Given the description of an element on the screen output the (x, y) to click on. 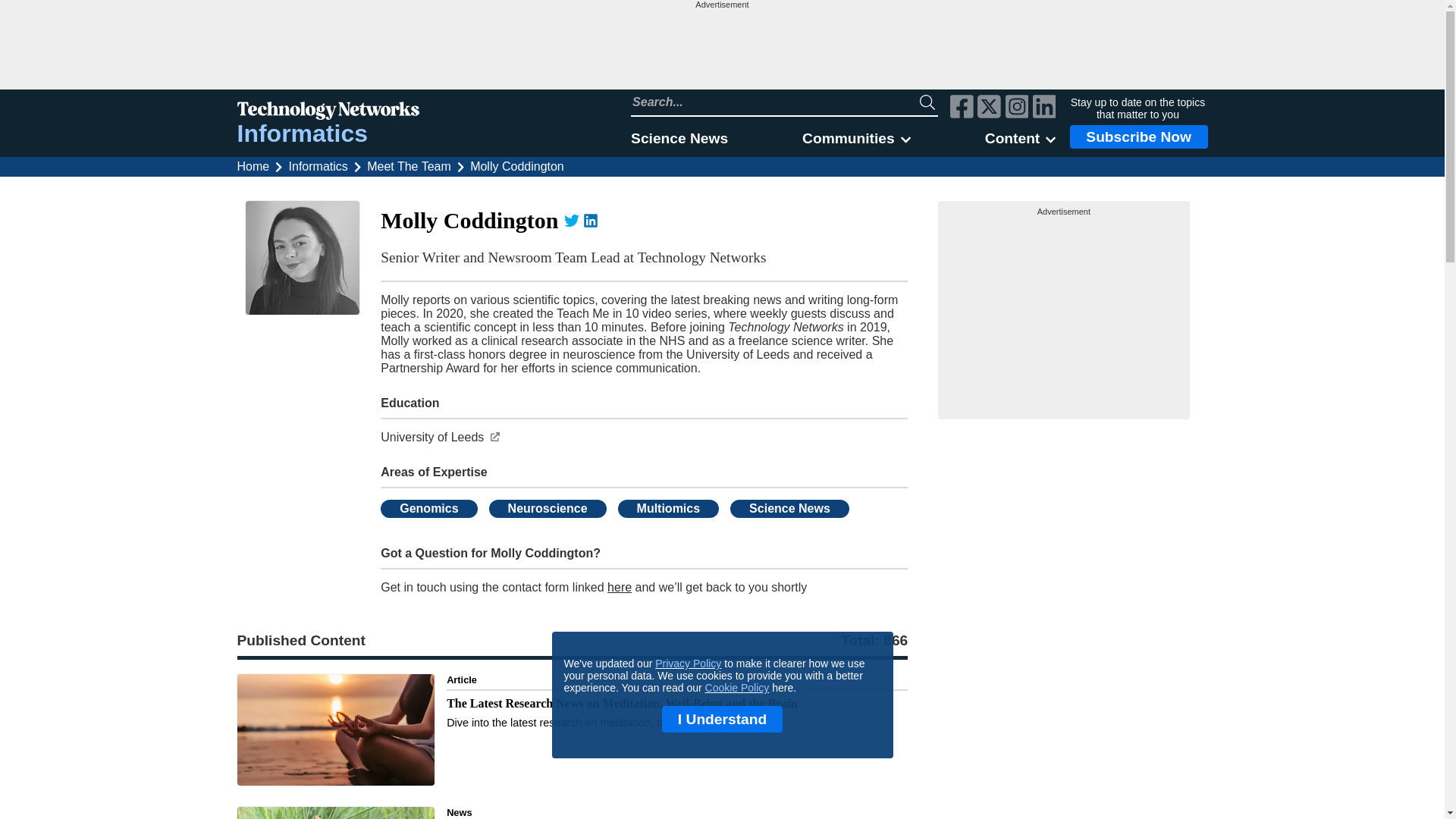
Search Technology Networks website input field (775, 102)
Technology Networks logo (327, 112)
3rd party ad content (721, 49)
I Understand (722, 718)
3rd party ad content (1063, 312)
Privacy Policy (687, 663)
Cookie Policy (737, 687)
